Given the description of an element on the screen output the (x, y) to click on. 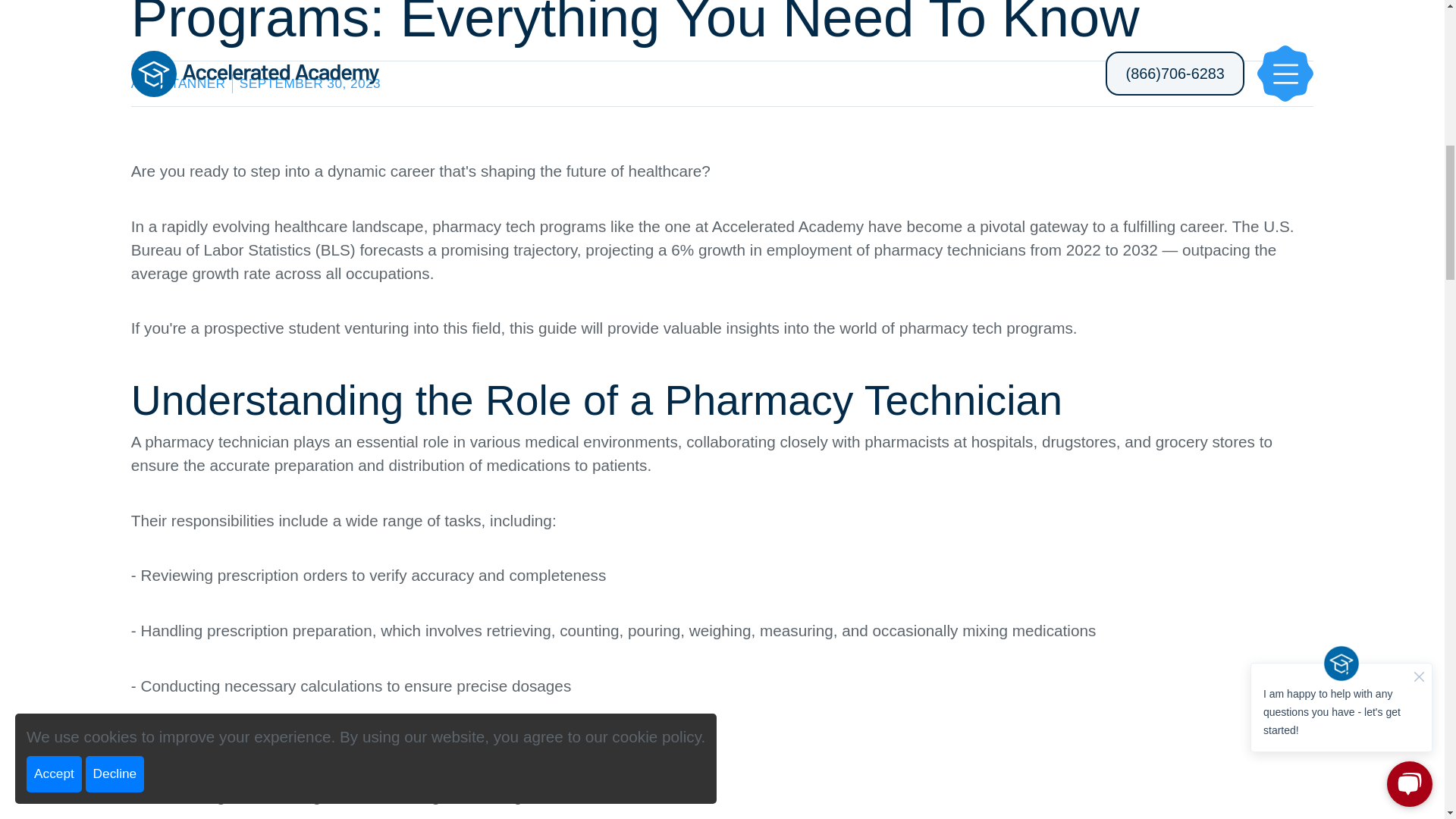
an essential role (391, 441)
